Given the description of an element on the screen output the (x, y) to click on. 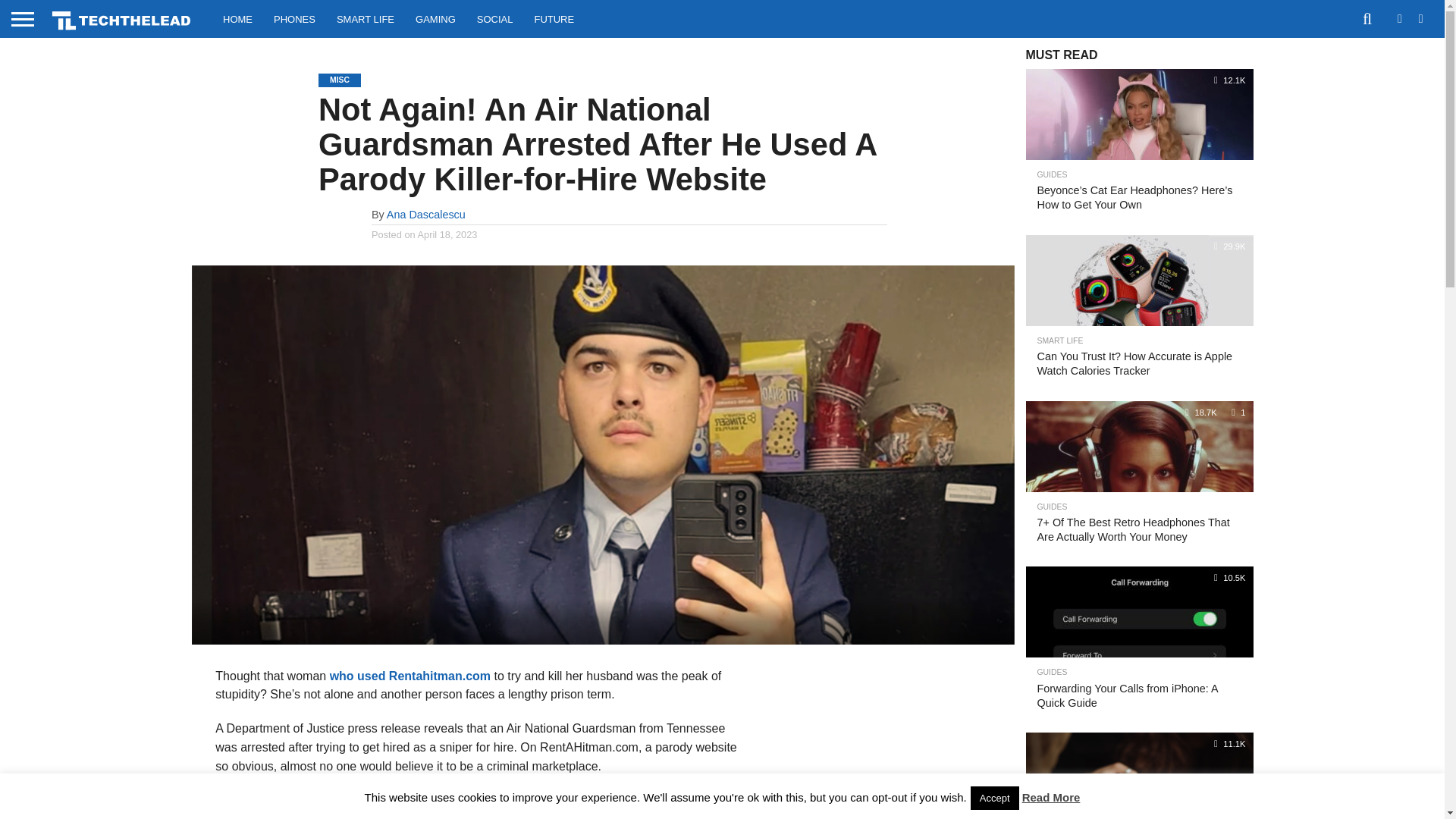
GAMING (434, 18)
SMART LIFE (365, 18)
SOCIAL (494, 18)
FUTURE (553, 18)
Posts by Ana Dascalescu (426, 214)
HOME (237, 18)
PHONES (294, 18)
